Given the description of an element on the screen output the (x, y) to click on. 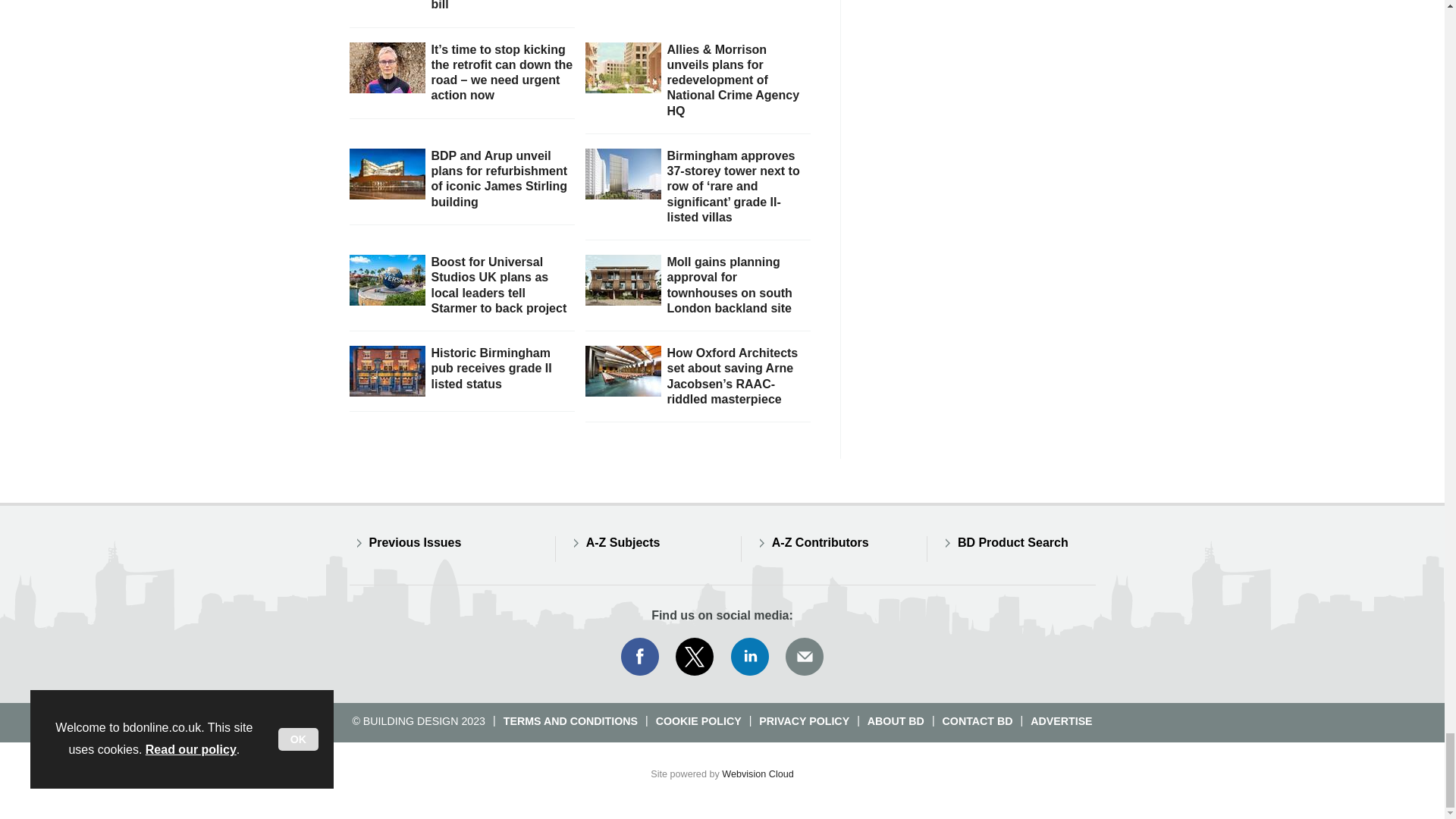
Connect with us on Facebook (639, 656)
Email us (804, 656)
Connect with us on Linked in (750, 656)
Connect with us on Twitter (694, 656)
